Given the description of an element on the screen output the (x, y) to click on. 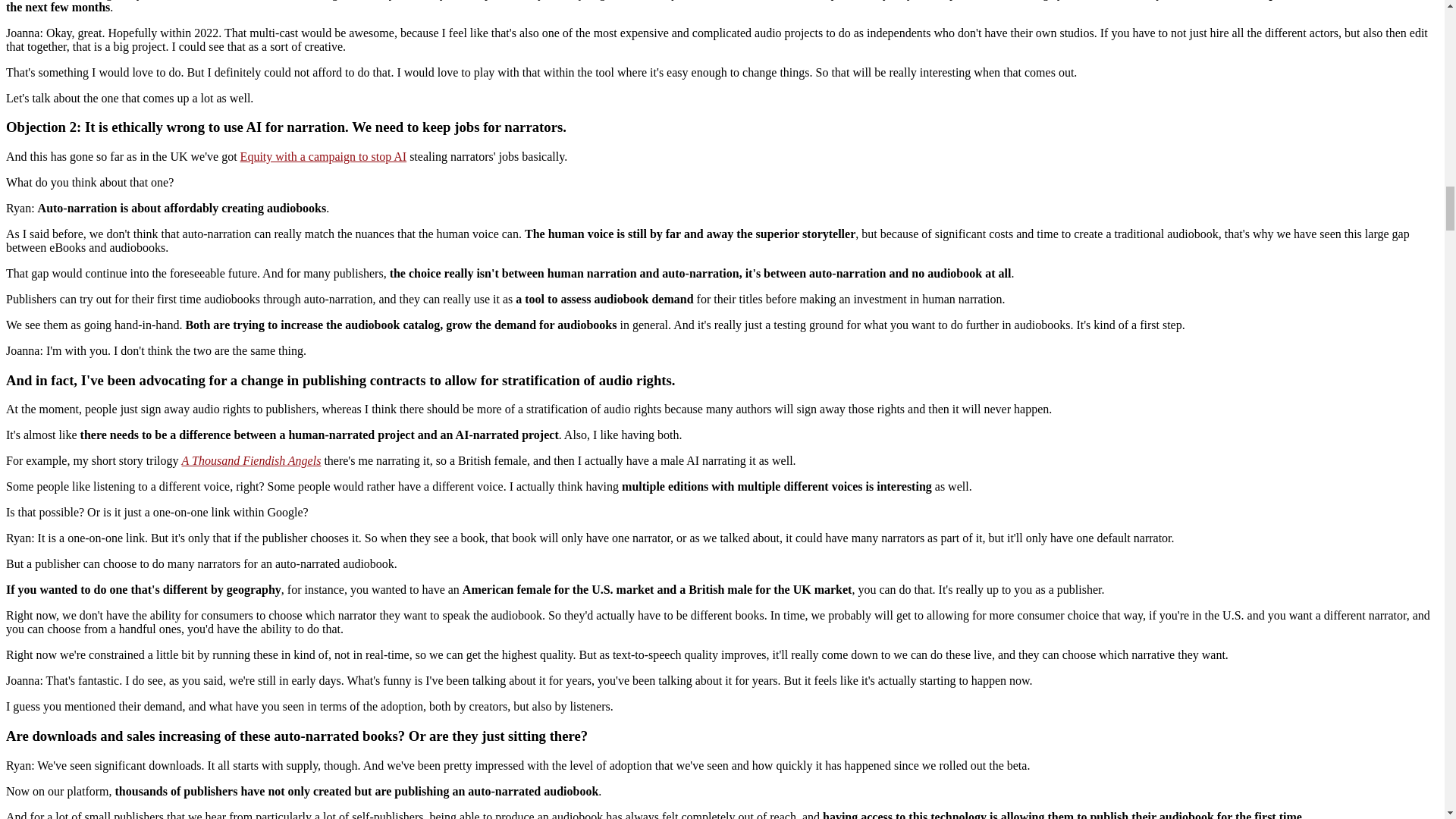
Equity with a campaign to stop AI (323, 155)
A Thousand Fiendish Angels (251, 460)
